Given the description of an element on the screen output the (x, y) to click on. 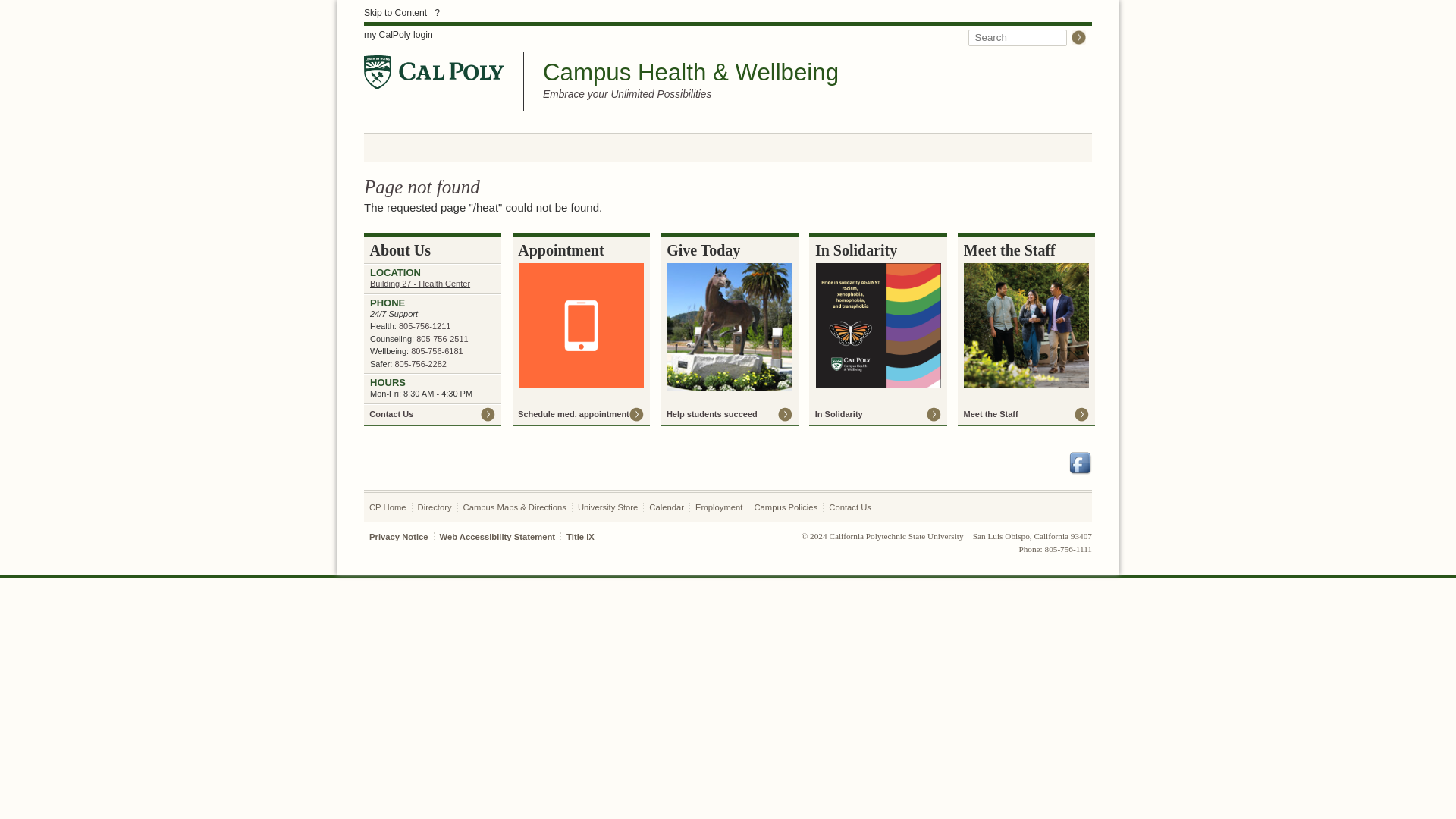
Contact Us (432, 414)
Web Accessibility Statement (497, 536)
805-756-2511 (442, 338)
Embrace your Unlimited Possibilities (627, 94)
Submit Search Query (1078, 37)
Meet the Staff (1026, 414)
Calendar (666, 506)
Title IX (580, 536)
Privacy Notice (398, 536)
Search Form (1027, 36)
my CalPoly login (398, 34)
skip to content (395, 12)
Skip to Content (395, 12)
my CalPoly login (398, 34)
805-756-2282 (420, 363)
